Given the description of an element on the screen output the (x, y) to click on. 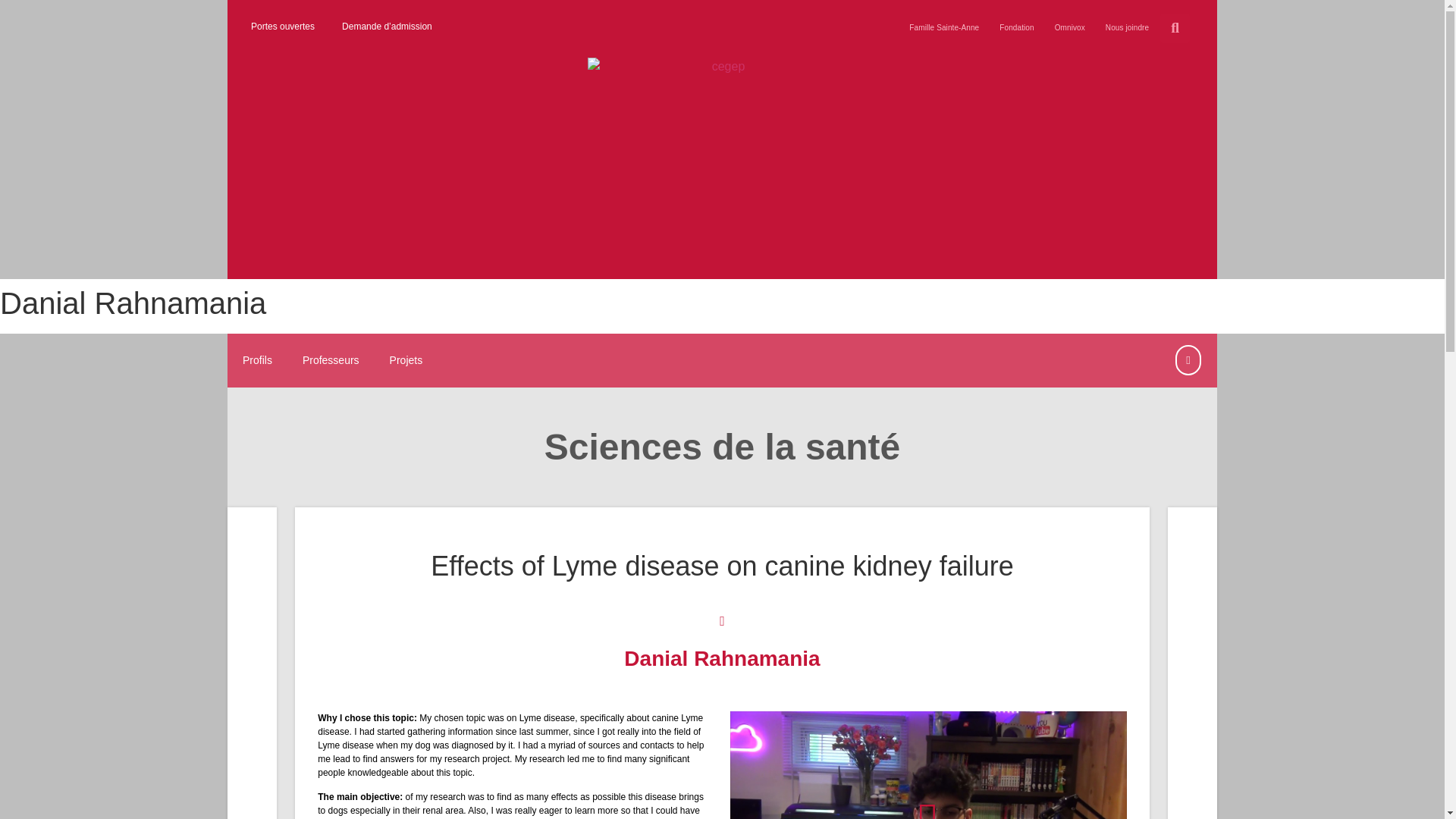
Famille Sainte-Anne (943, 27)
Profils (264, 360)
Portes ouvertes (282, 26)
Nous joindre (1126, 27)
